Given the description of an element on the screen output the (x, y) to click on. 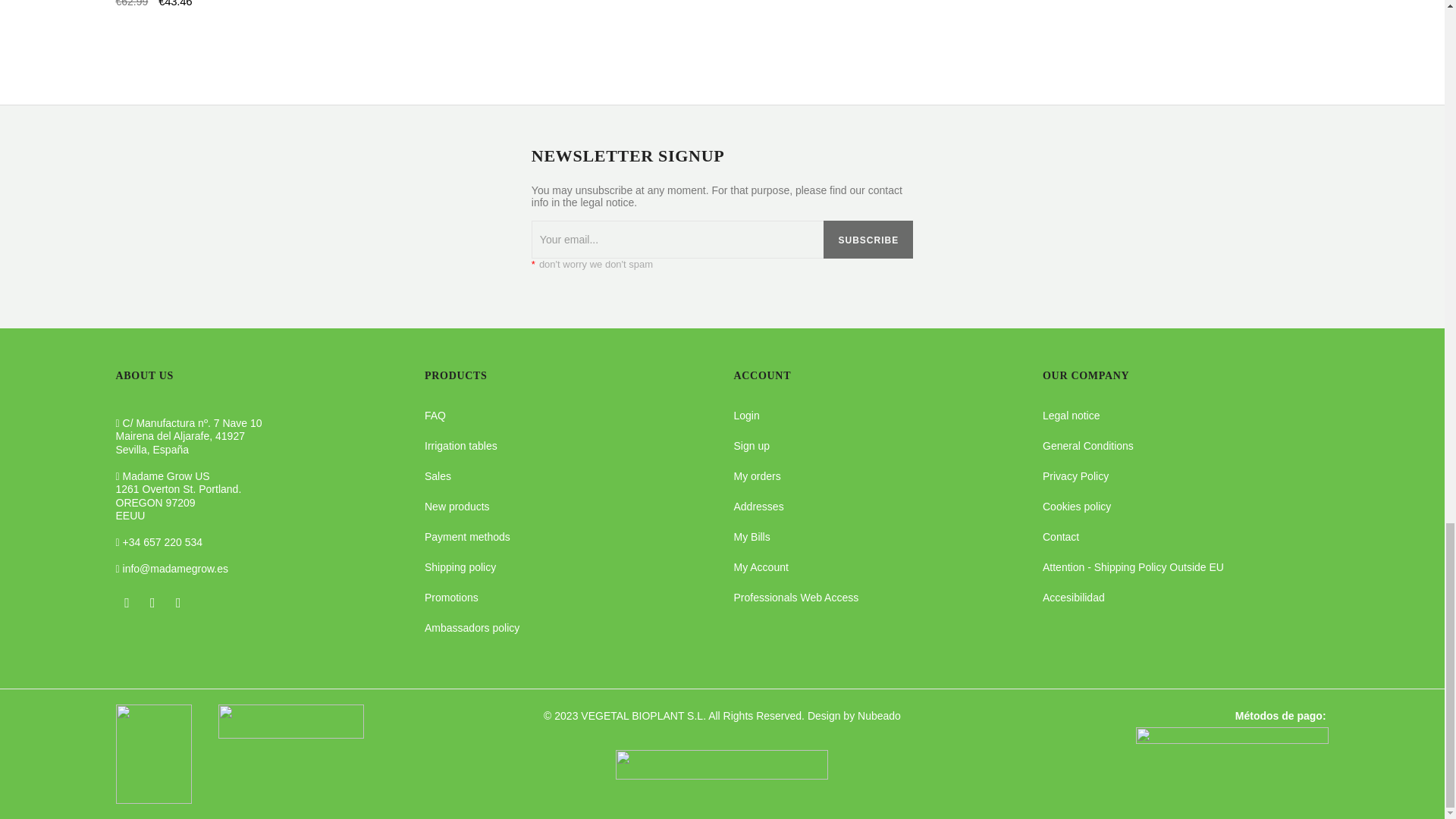
Facebook (126, 602)
Twitter (152, 602)
newsletter (677, 239)
Instagram (178, 602)
